Given the description of an element on the screen output the (x, y) to click on. 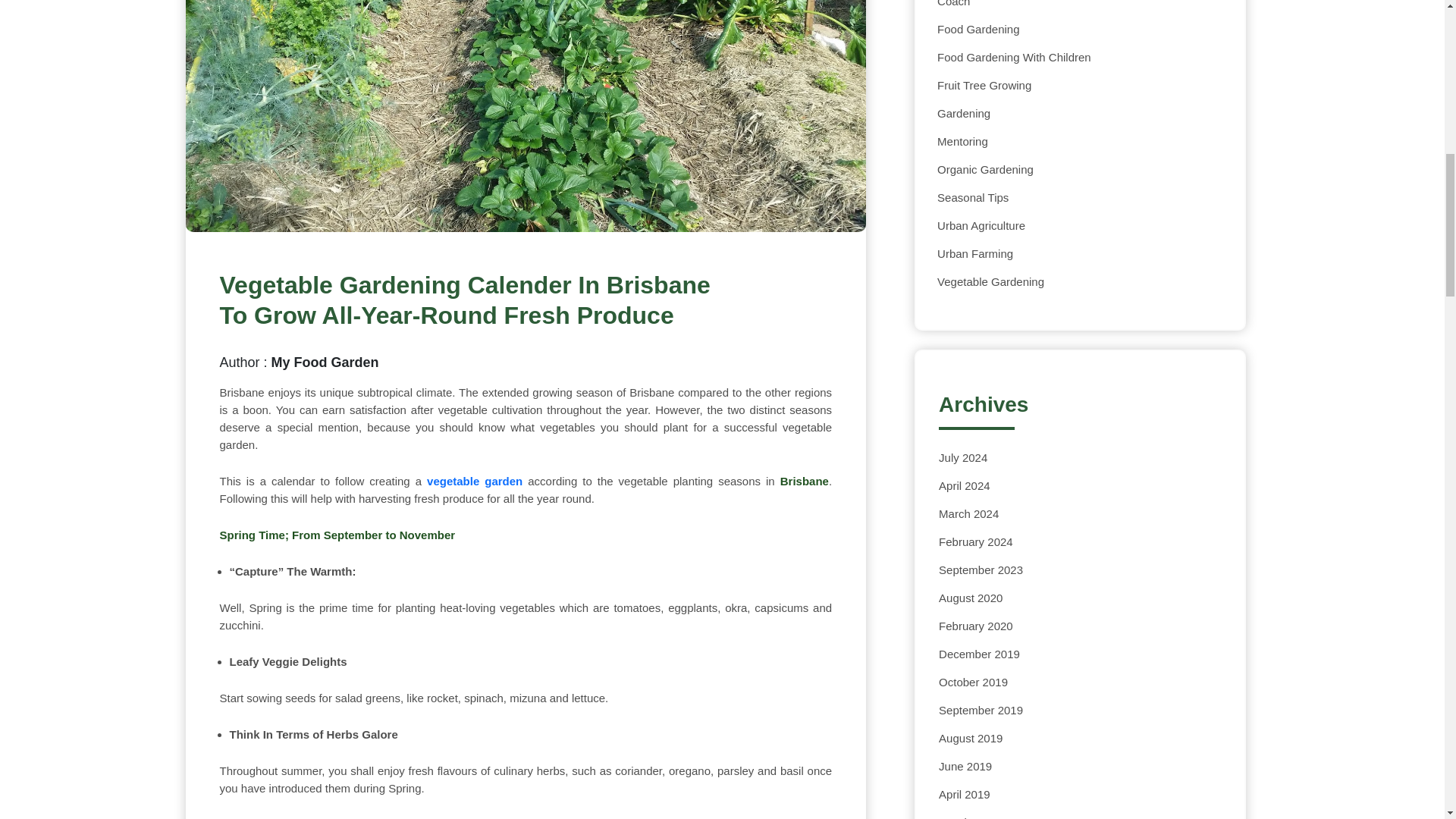
vegetable garden (474, 481)
